Given the description of an element on the screen output the (x, y) to click on. 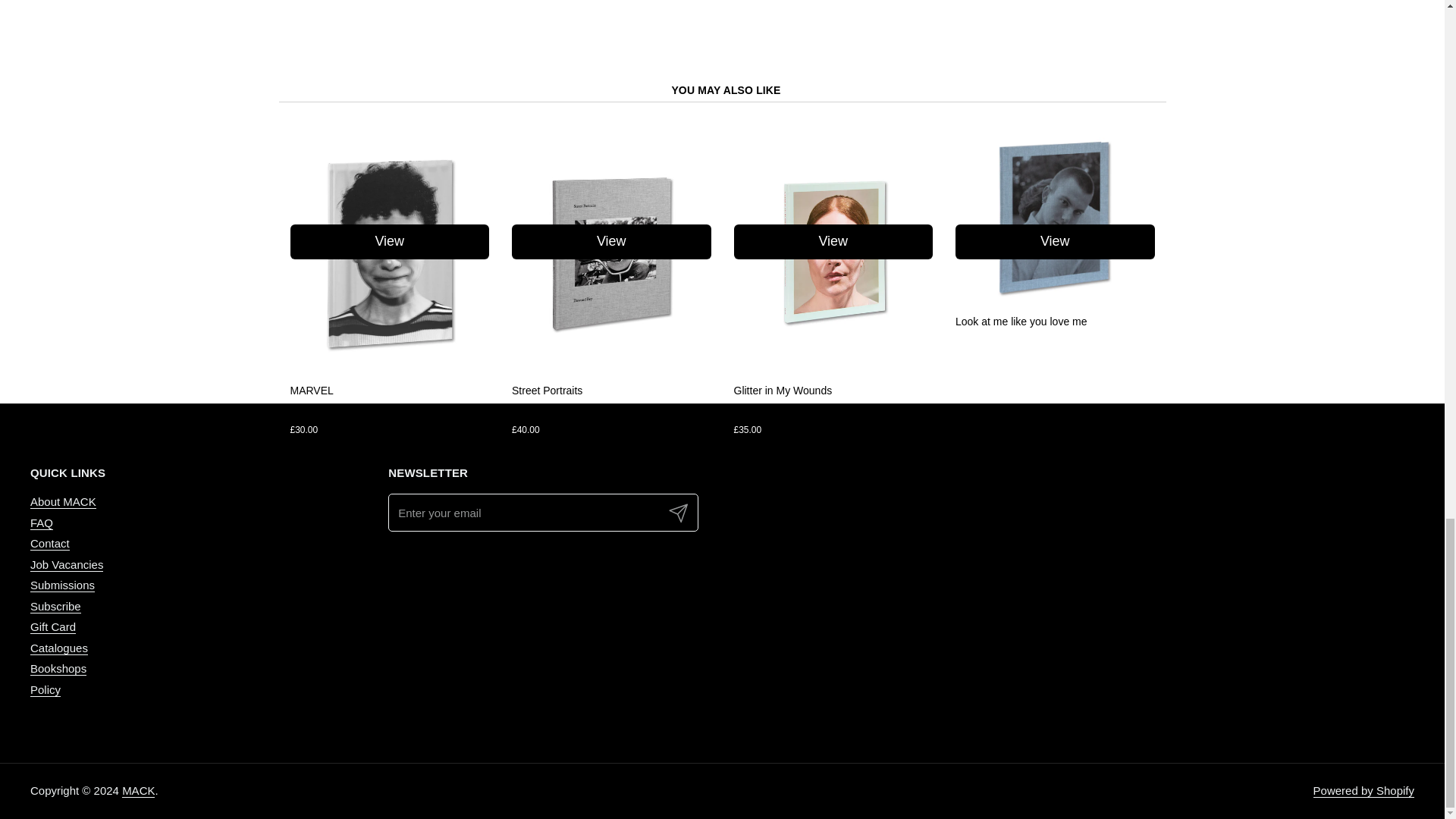
Glitter in My Wounds (782, 390)
MARVEL (389, 365)
Glitter in My Wounds (833, 365)
Look at me like you love me (1054, 296)
MARVEL (311, 390)
Look at me like you love me (1021, 321)
Street Portraits (611, 365)
Street Portraits (547, 390)
